Given the description of an element on the screen output the (x, y) to click on. 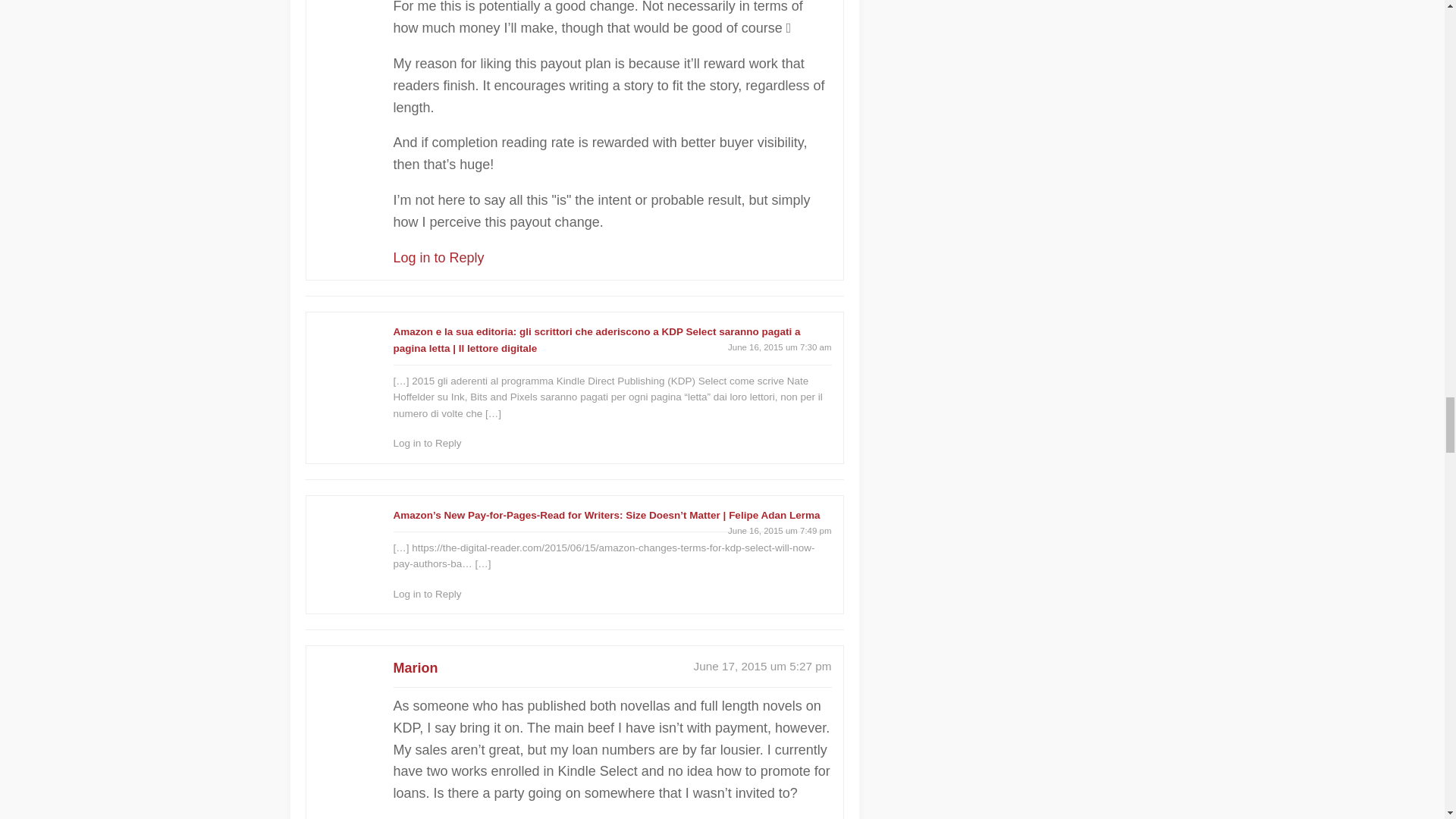
Log in to Reply (427, 593)
Log in to Reply (438, 257)
Log in to Reply (427, 442)
